Given the description of an element on the screen output the (x, y) to click on. 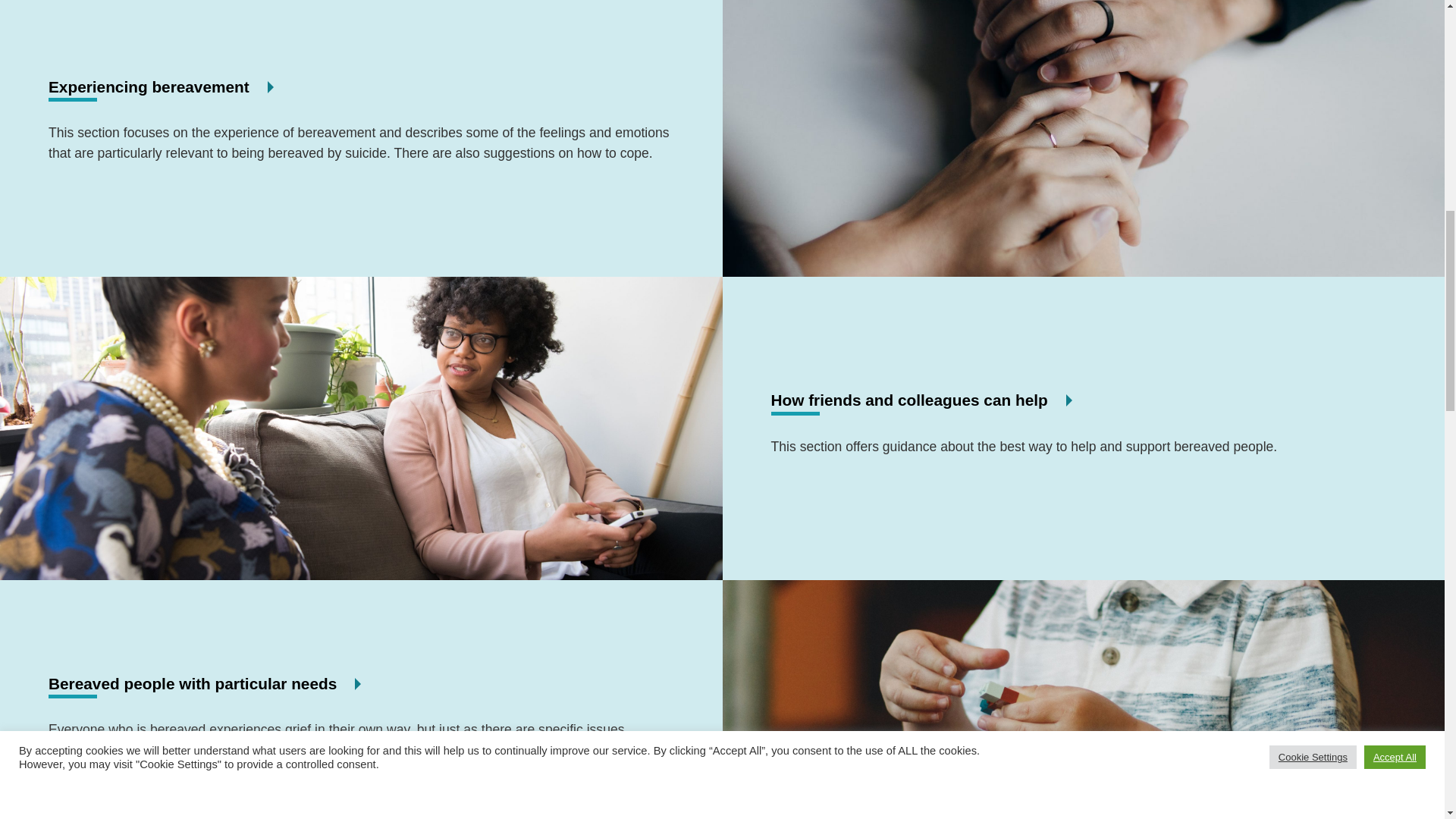
Bereaved people with particular needs (192, 683)
Experiencing bereavement (148, 86)
How friends and colleagues can help (908, 399)
